Given the description of an element on the screen output the (x, y) to click on. 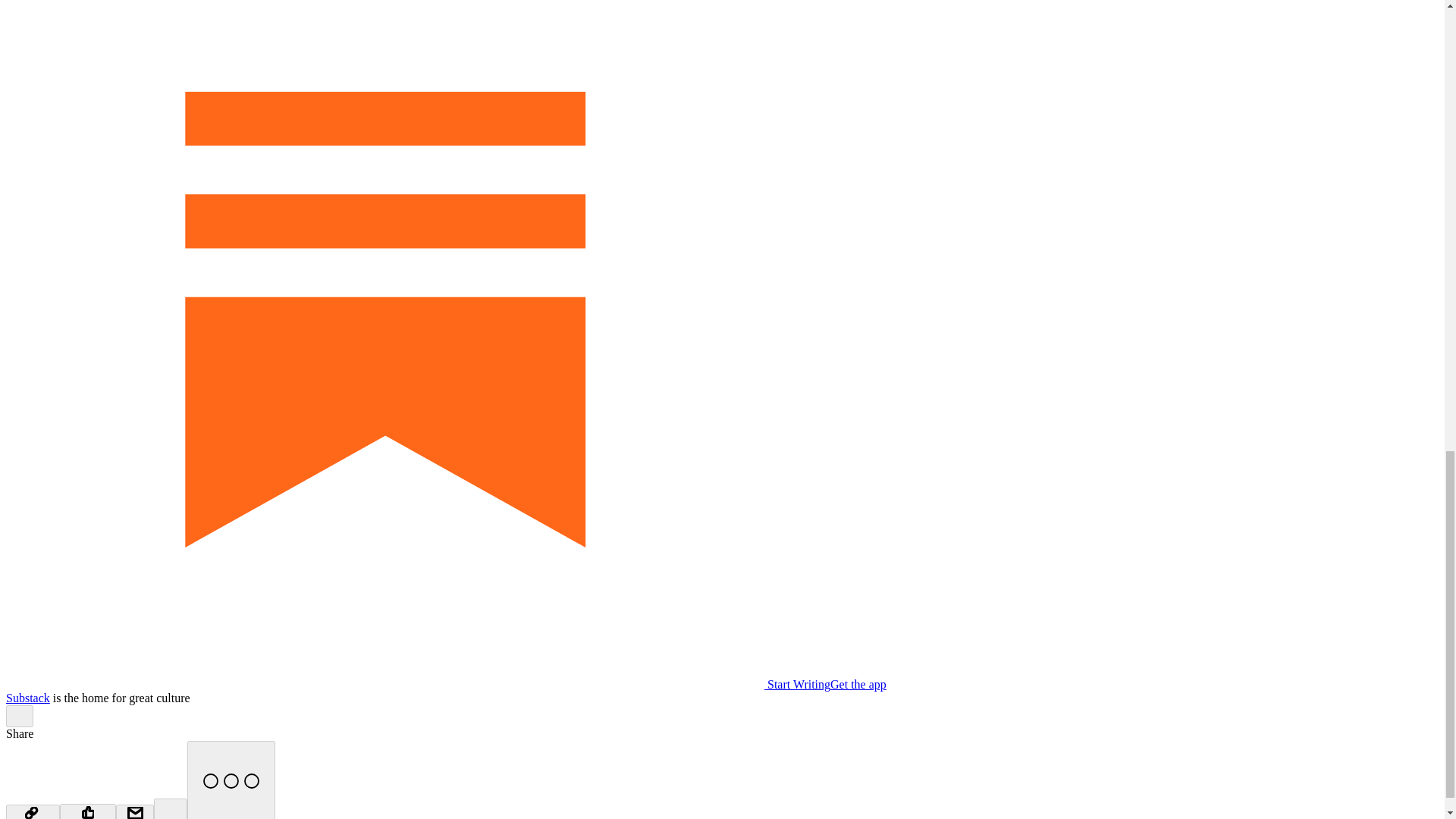
Start Writing (417, 684)
Get the app (857, 684)
Substack (27, 697)
